Given the description of an element on the screen output the (x, y) to click on. 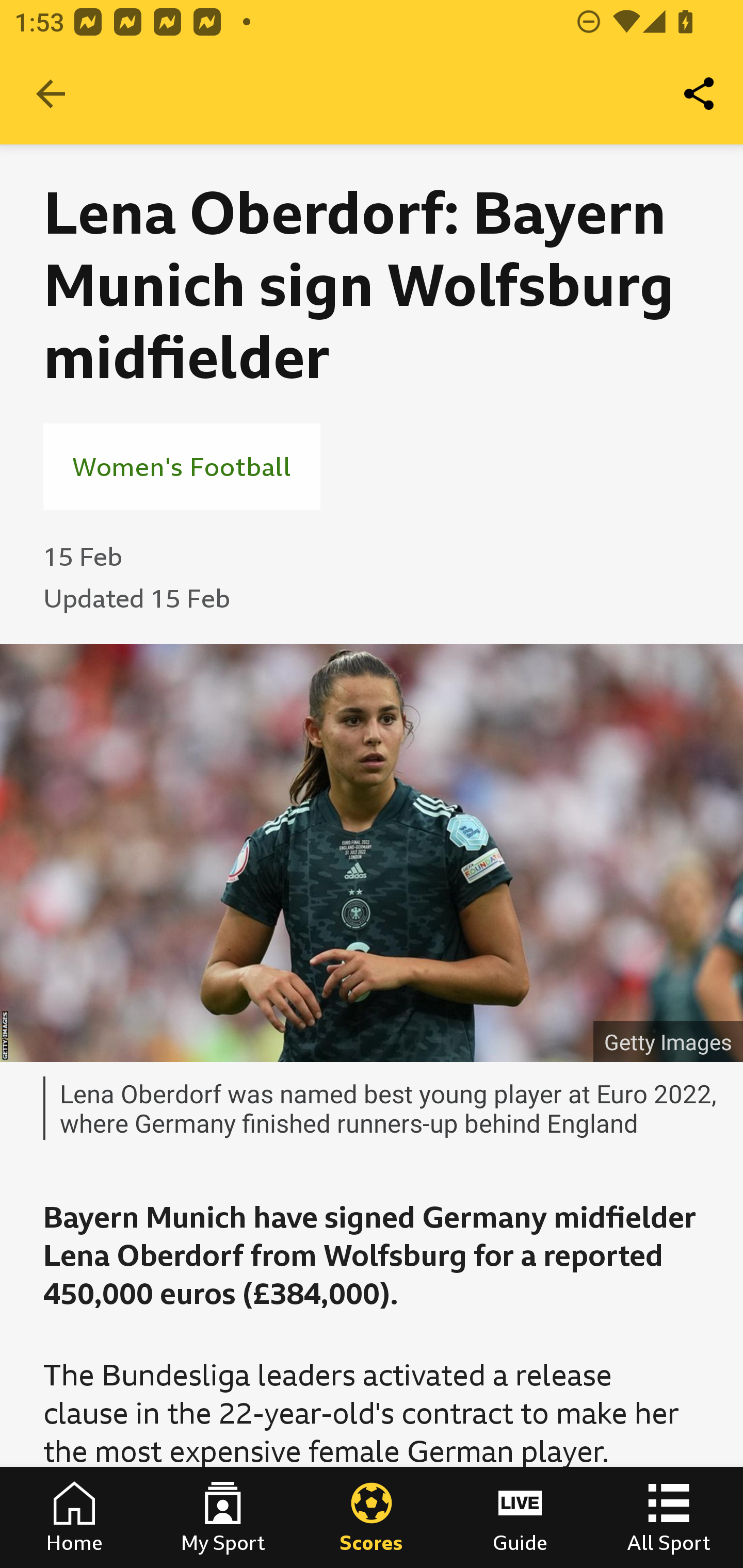
Navigate up (50, 93)
Share (699, 93)
Women's Football (181, 466)
Home (74, 1517)
My Sport (222, 1517)
Guide (519, 1517)
All Sport (668, 1517)
